Given the description of an element on the screen output the (x, y) to click on. 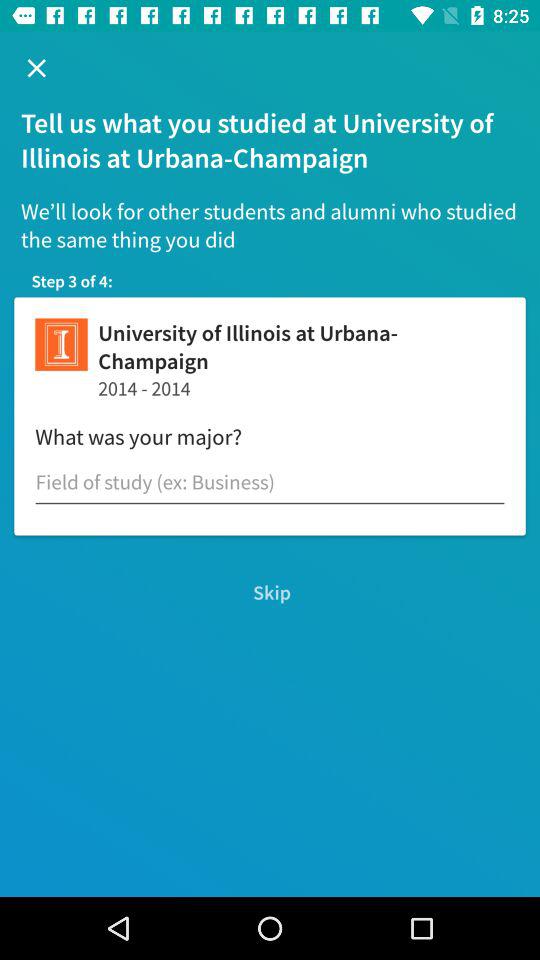
swipe until skip (269, 592)
